Given the description of an element on the screen output the (x, y) to click on. 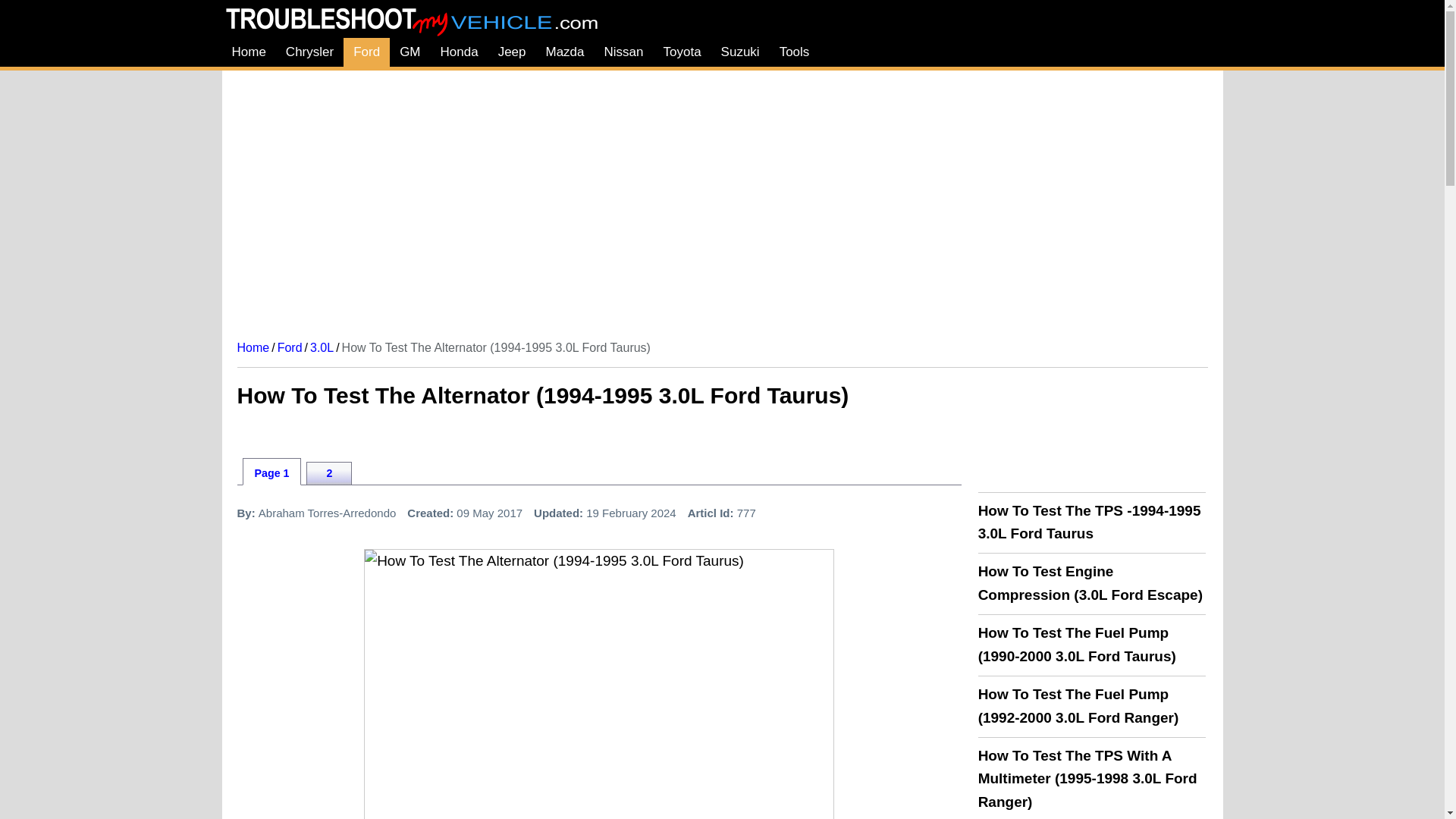
Ford (366, 51)
GM (409, 51)
Home (248, 51)
Chrysler (309, 51)
